Given the description of an element on the screen output the (x, y) to click on. 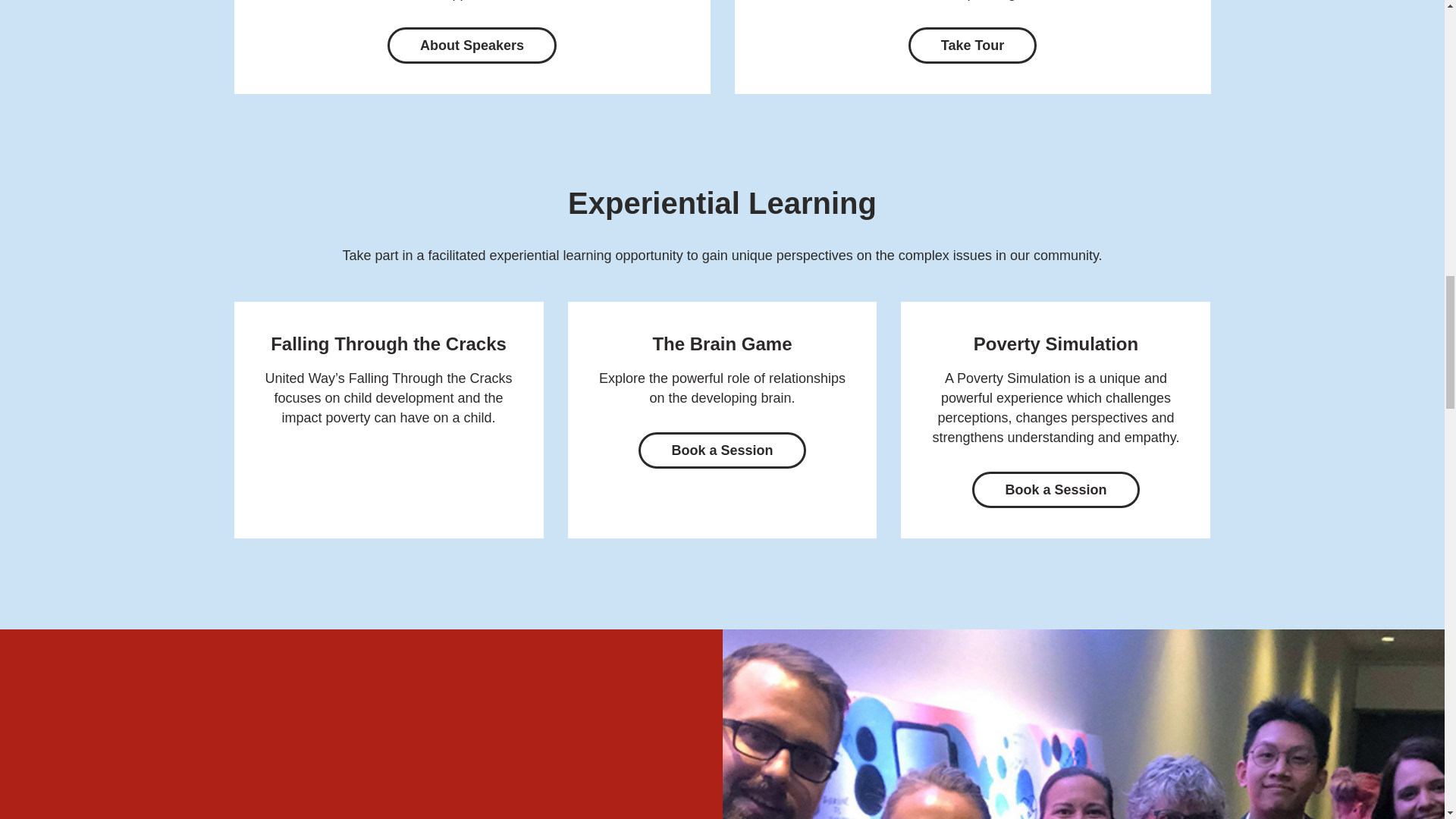
Take Tour (971, 45)
Book a Session (1055, 489)
Book a Session (720, 450)
About Speakers (471, 45)
